Given the description of an element on the screen output the (x, y) to click on. 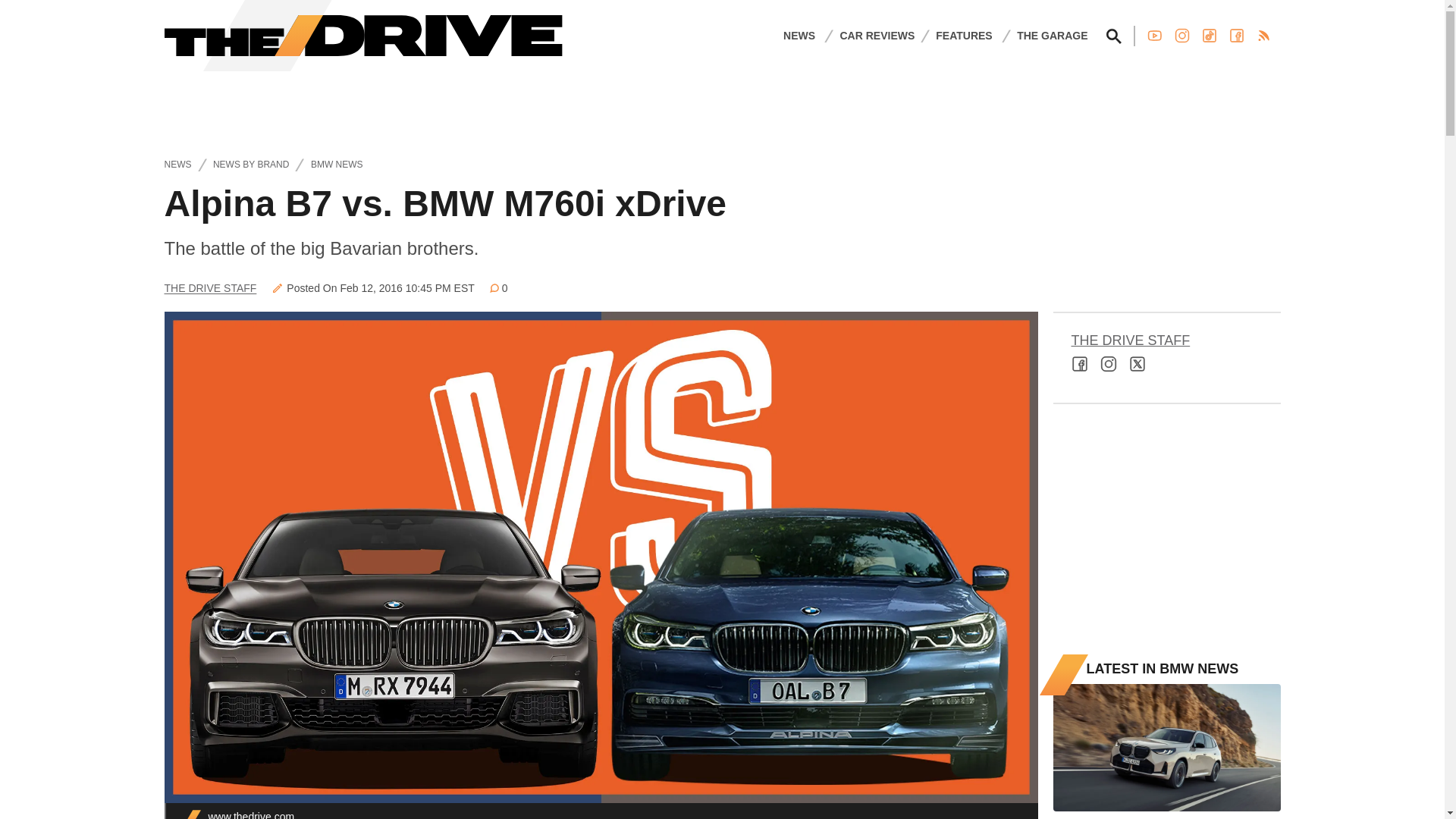
NEWS (799, 34)
